Given the description of an element on the screen output the (x, y) to click on. 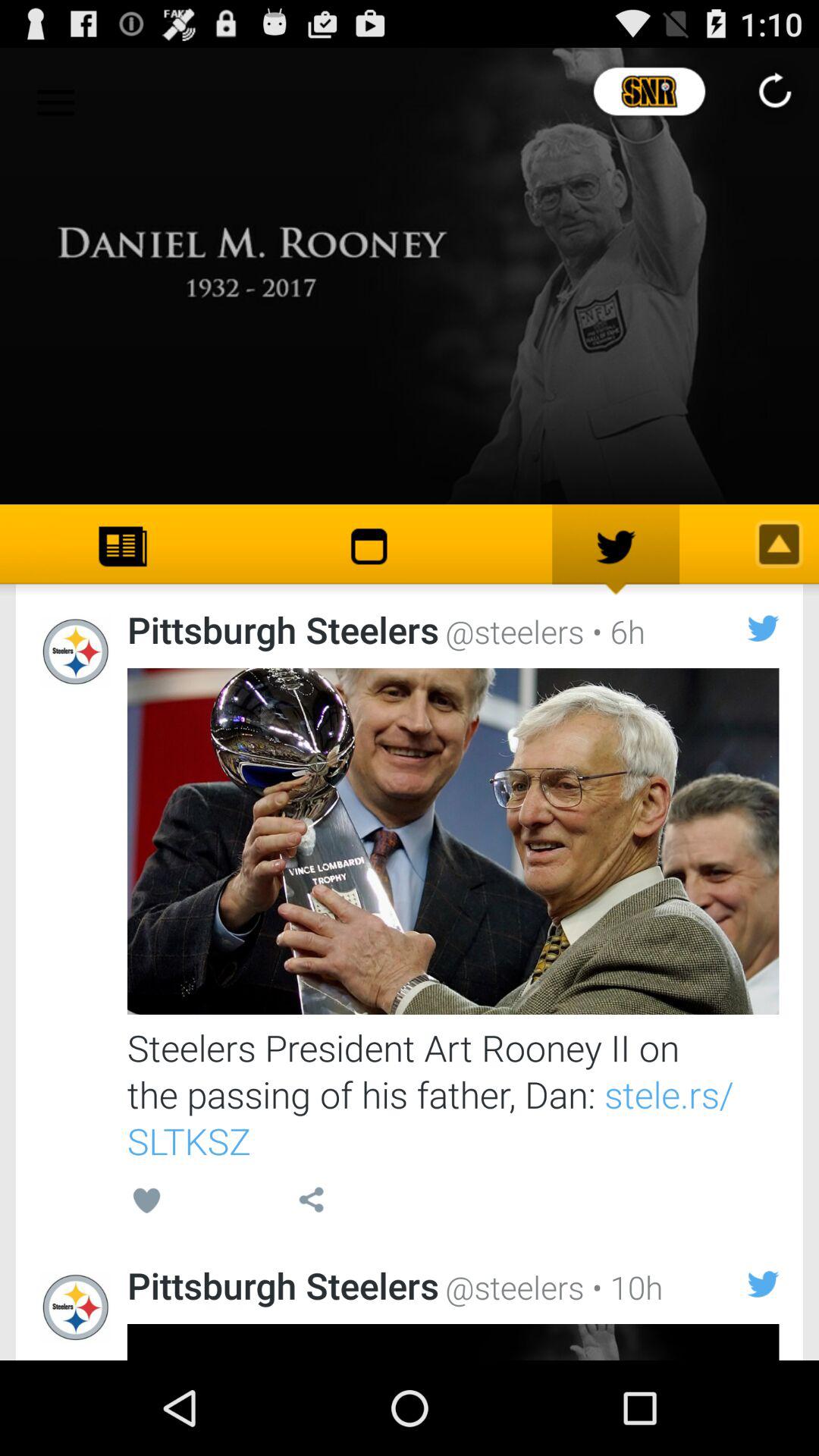
open icon above the pittsburgh steelers item (146, 1202)
